Given the description of an element on the screen output the (x, y) to click on. 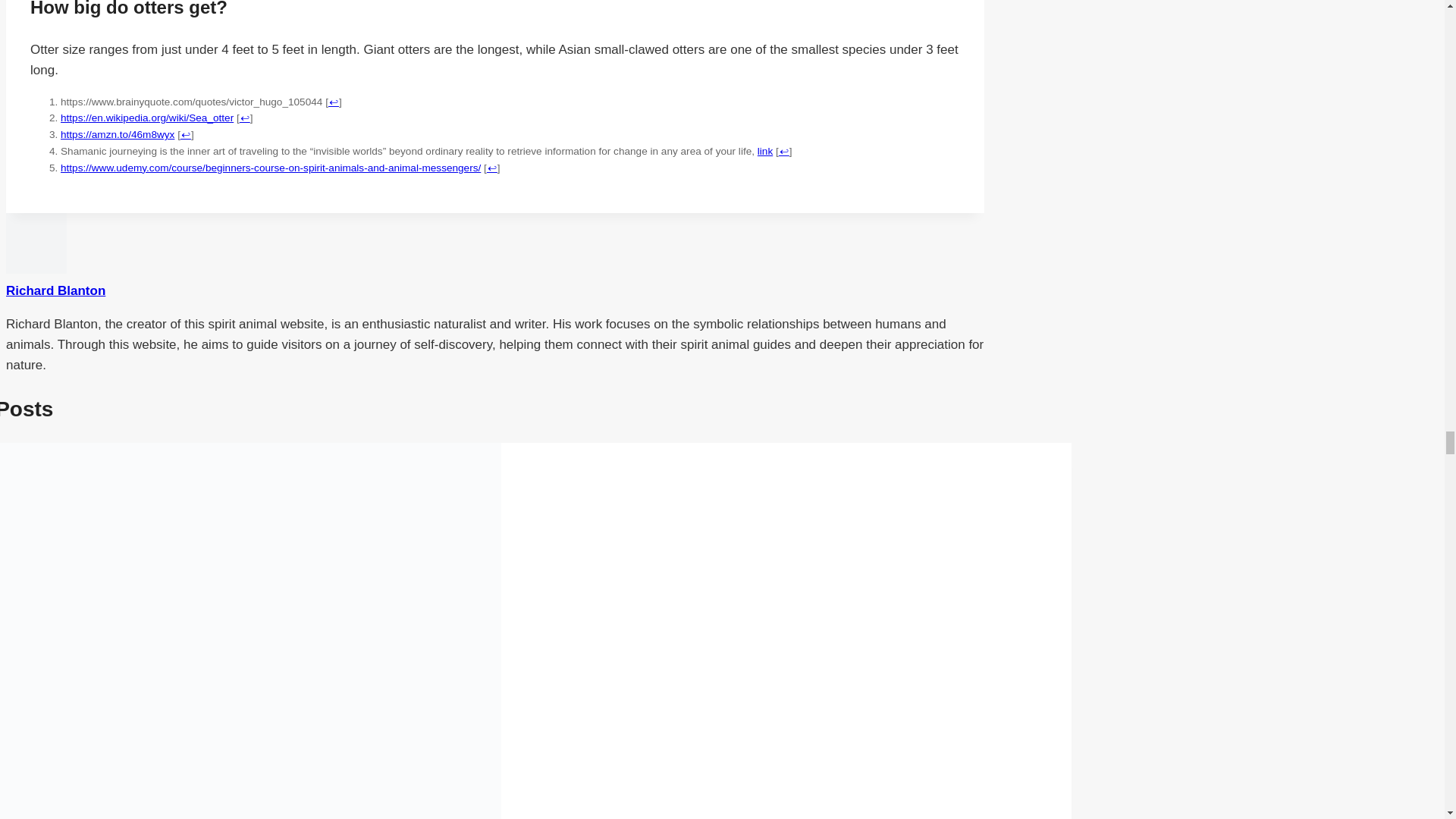
Posts by Richard Blanton (54, 290)
